Given the description of an element on the screen output the (x, y) to click on. 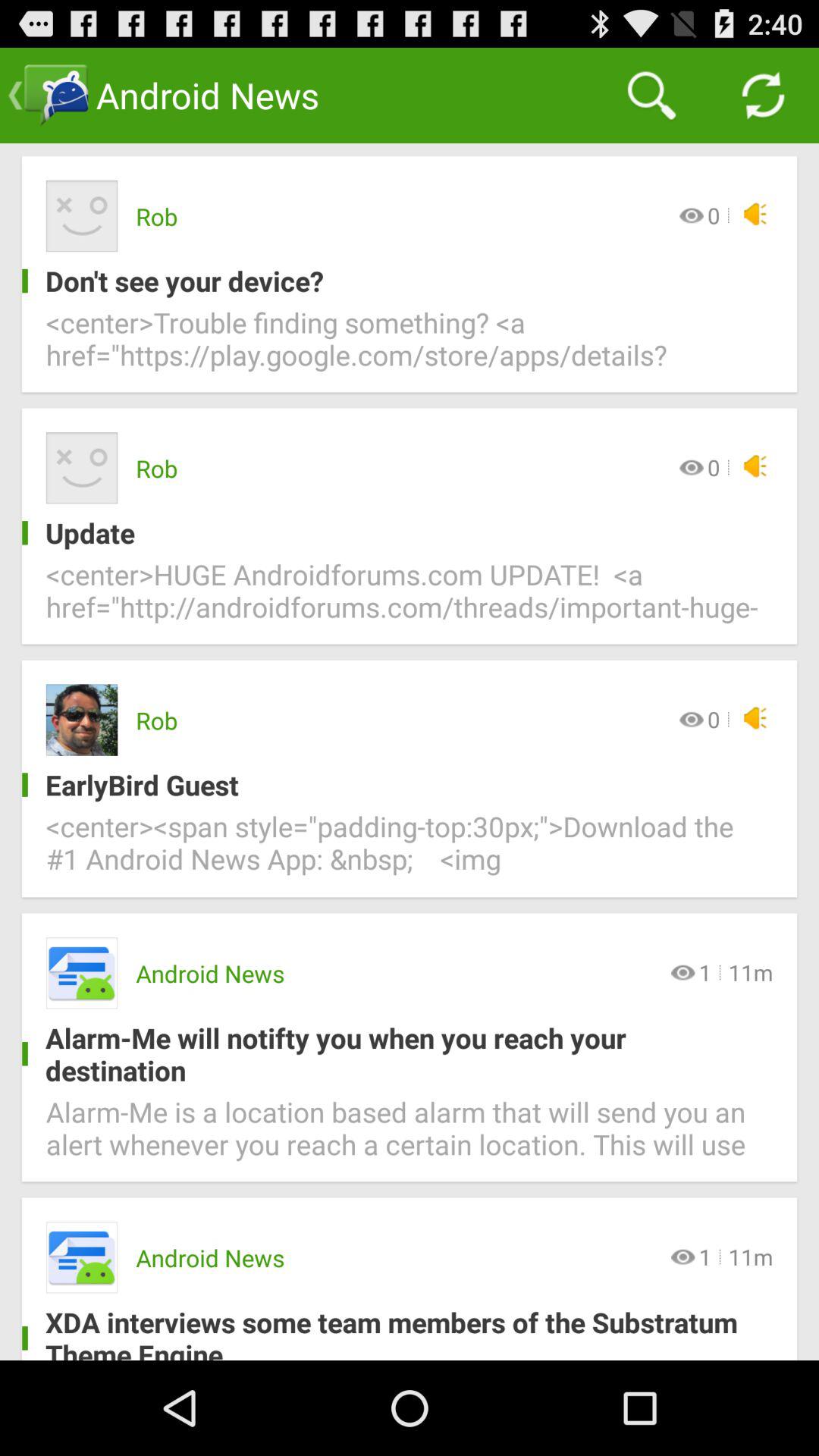
jump to the center huge androidforums item (409, 599)
